Given the description of an element on the screen output the (x, y) to click on. 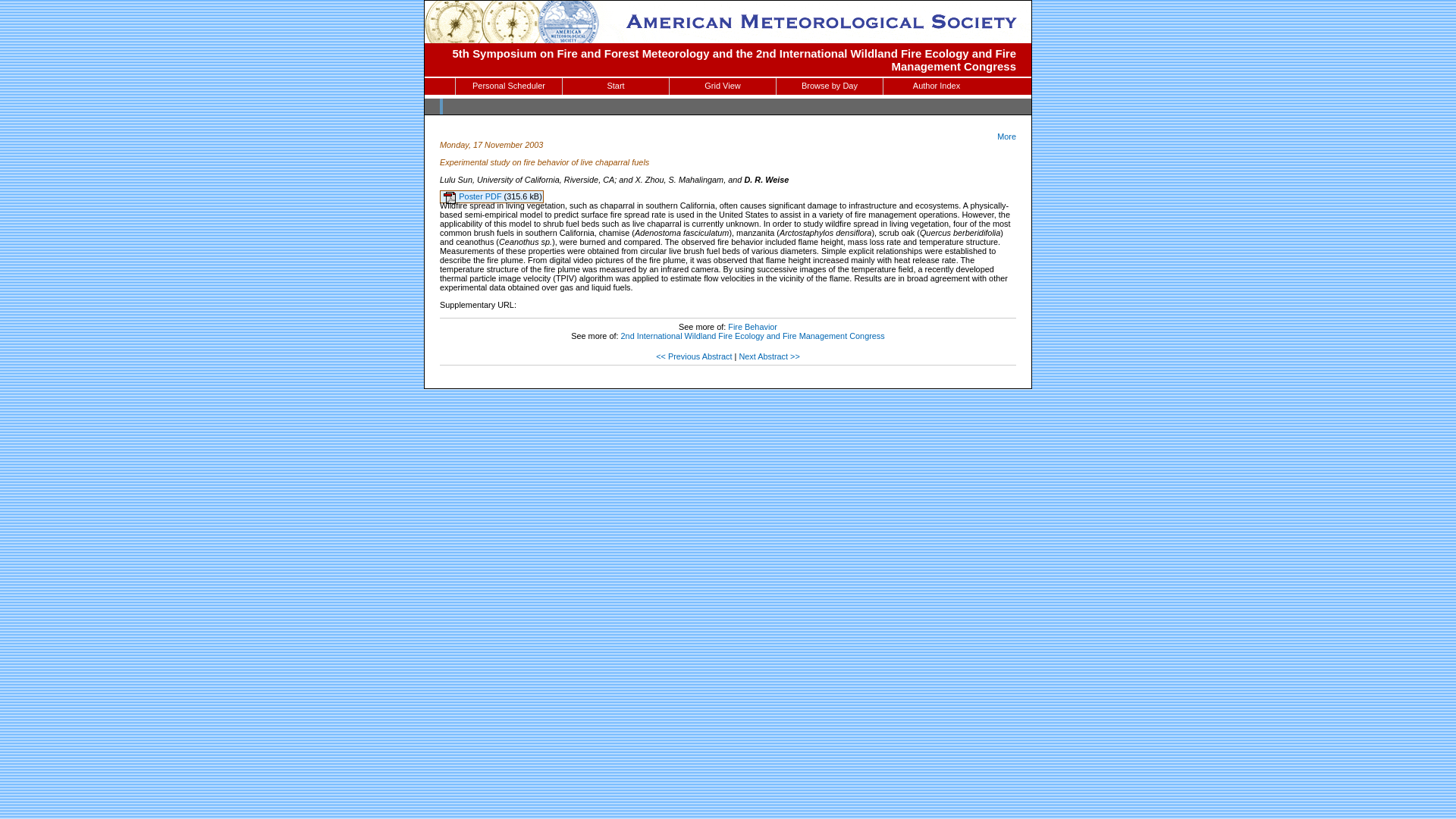
Grid View (722, 86)
Personal Scheduler (508, 86)
Browse by Day (829, 86)
Author Index (936, 86)
Fire Behavior (752, 326)
Start (615, 86)
More (1006, 135)
Poster PDF (473, 203)
